Given the description of an element on the screen output the (x, y) to click on. 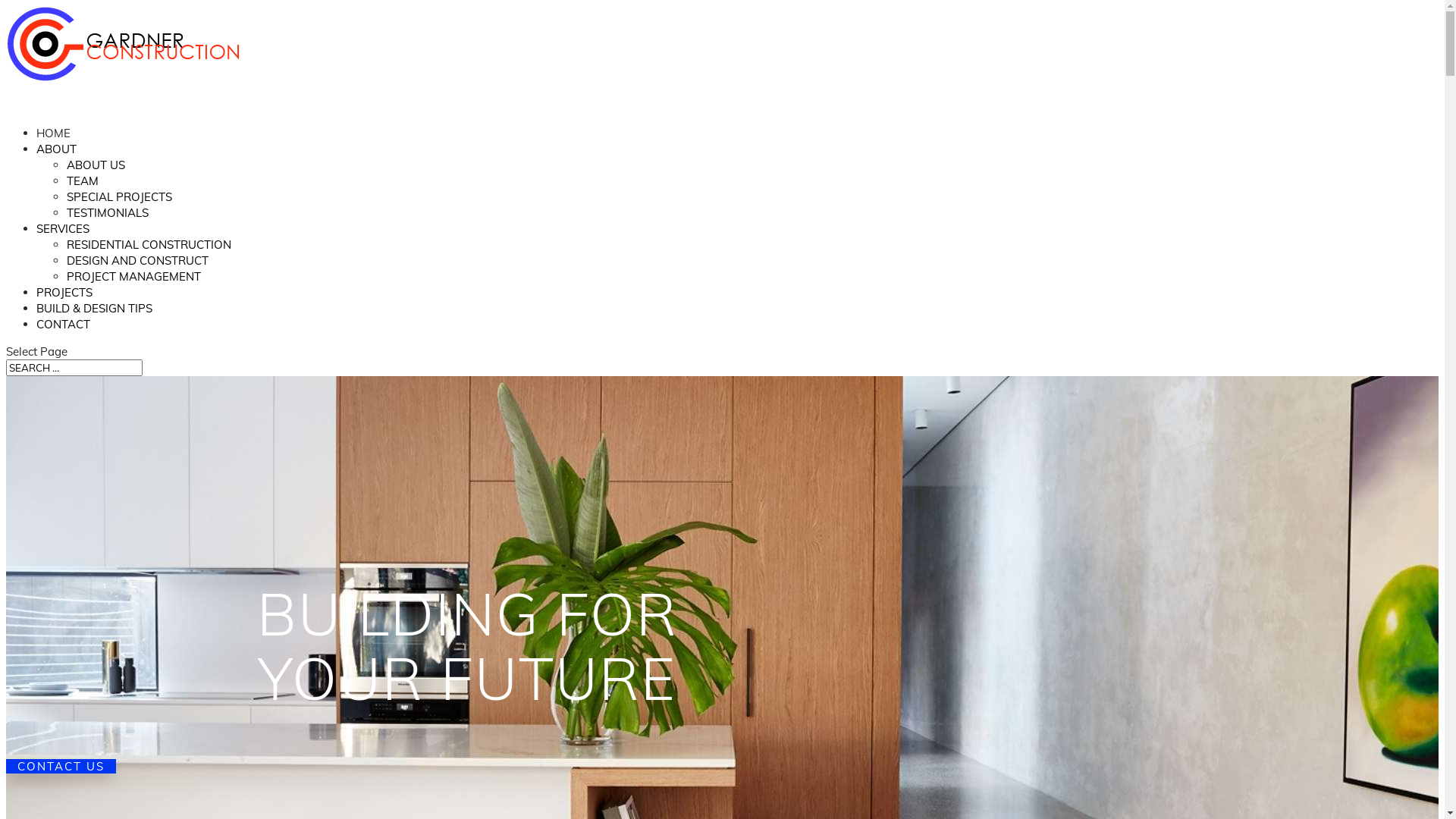
SERVICES Element type: text (62, 242)
TESTIMONIALS Element type: text (107, 218)
HOME Element type: text (53, 146)
ABOUT Element type: text (56, 162)
CONTACT Element type: text (63, 337)
CONTACT US Element type: text (61, 766)
SPECIAL PROJECTS Element type: text (119, 202)
PROJECT MANAGEMENT Element type: text (133, 281)
BUILD & DESIGN TIPS Element type: text (94, 322)
ABOUT US Element type: text (95, 170)
PROJECTS Element type: text (64, 306)
TEAM Element type: text (82, 186)
DESIGN AND CONSTRUCT Element type: text (137, 266)
RESIDENTIAL CONSTRUCTION Element type: text (148, 250)
Search for: Element type: hover (74, 367)
